Given the description of an element on the screen output the (x, y) to click on. 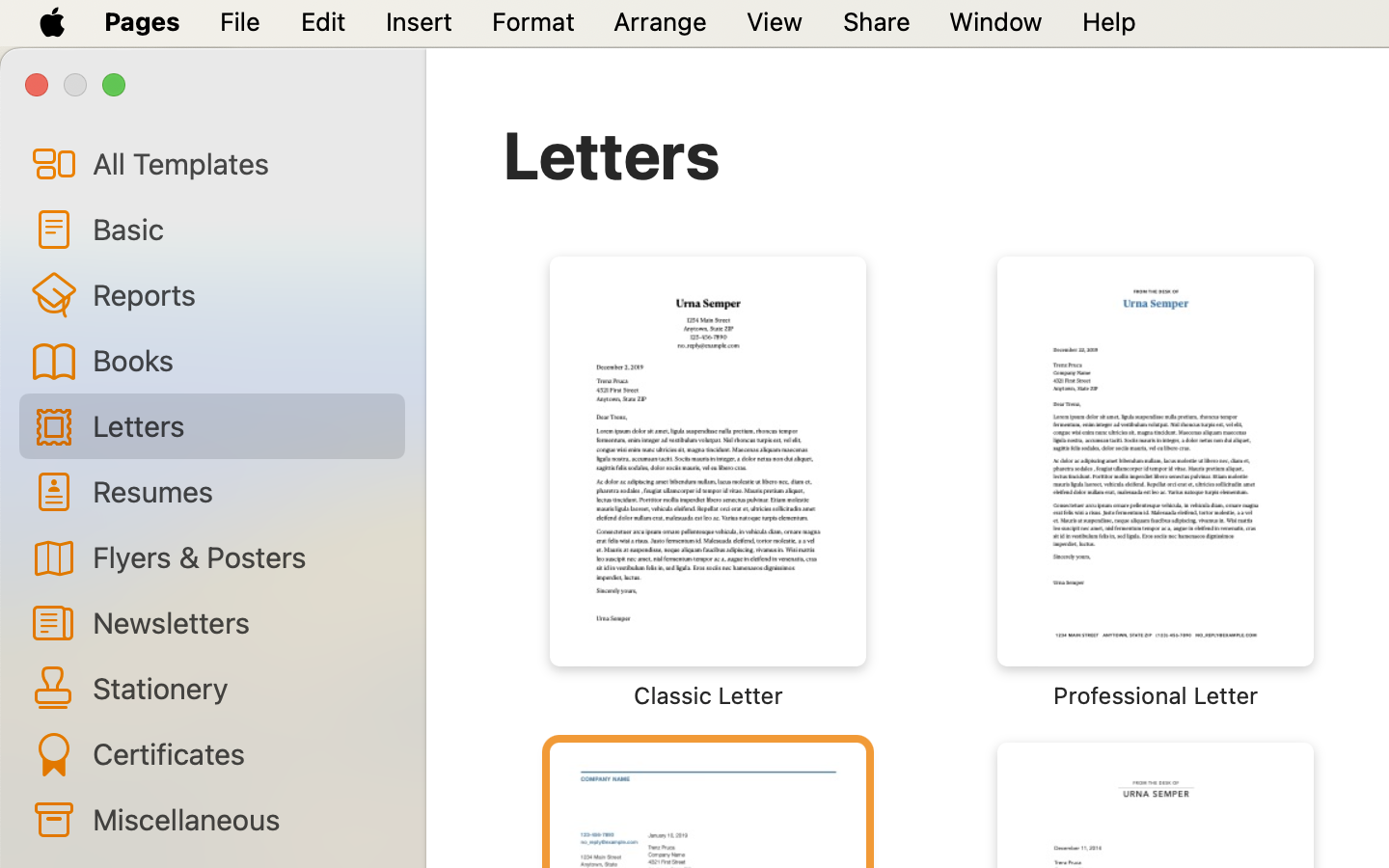
‎⁨Professional Letter⁩ Element type: AXButton (1155, 483)
Reports Element type: AXStaticText (240, 293)
All Templates Element type: AXStaticText (240, 162)
Newsletters Element type: AXStaticText (240, 621)
Letters Element type: AXStaticText (611, 153)
